Given the description of an element on the screen output the (x, y) to click on. 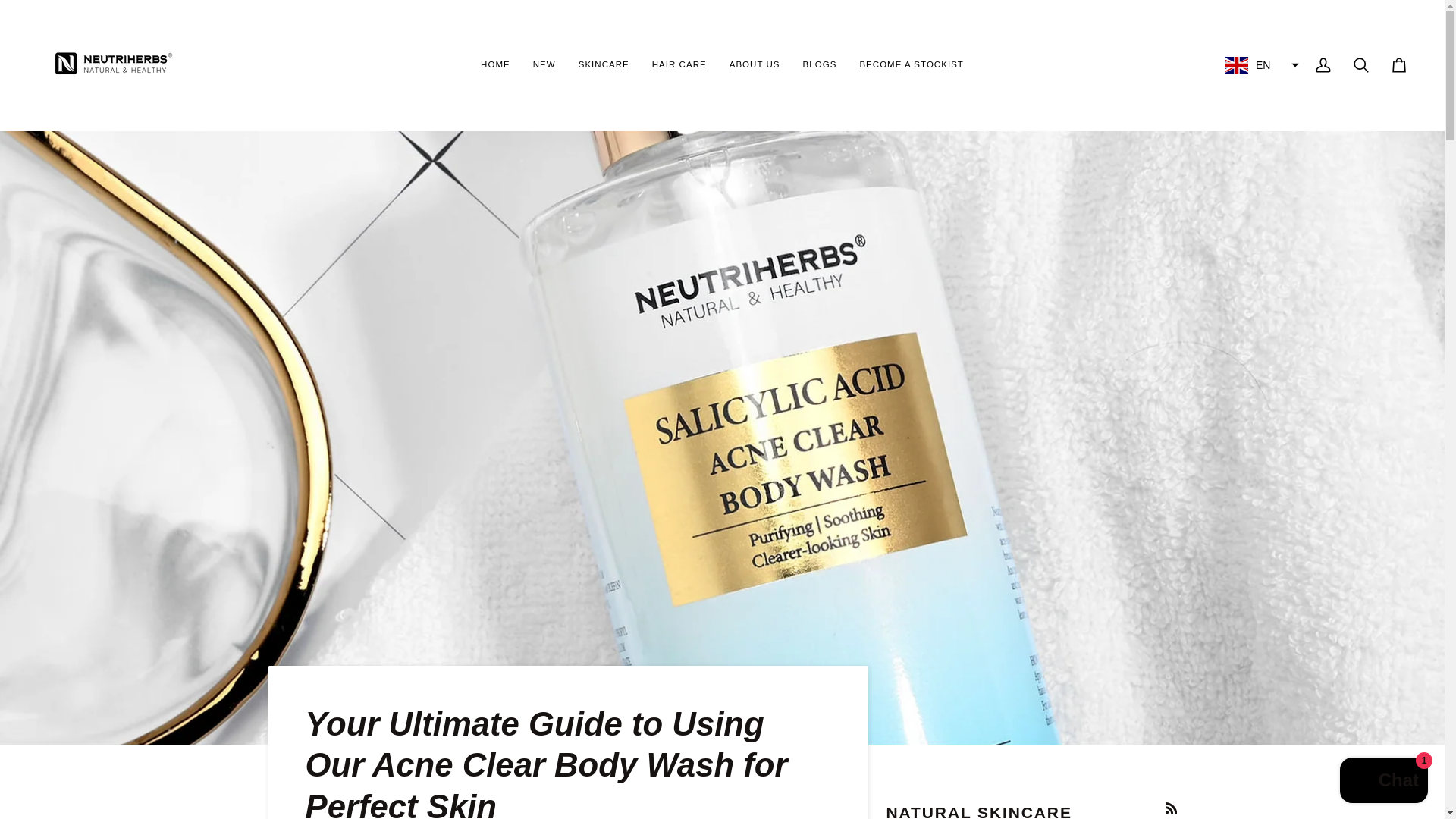
Neutriherbs RSS (1171, 808)
Shopify online store chat (1383, 781)
SKINCARE (603, 65)
NEW (544, 65)
HOME (494, 65)
